Given the description of an element on the screen output the (x, y) to click on. 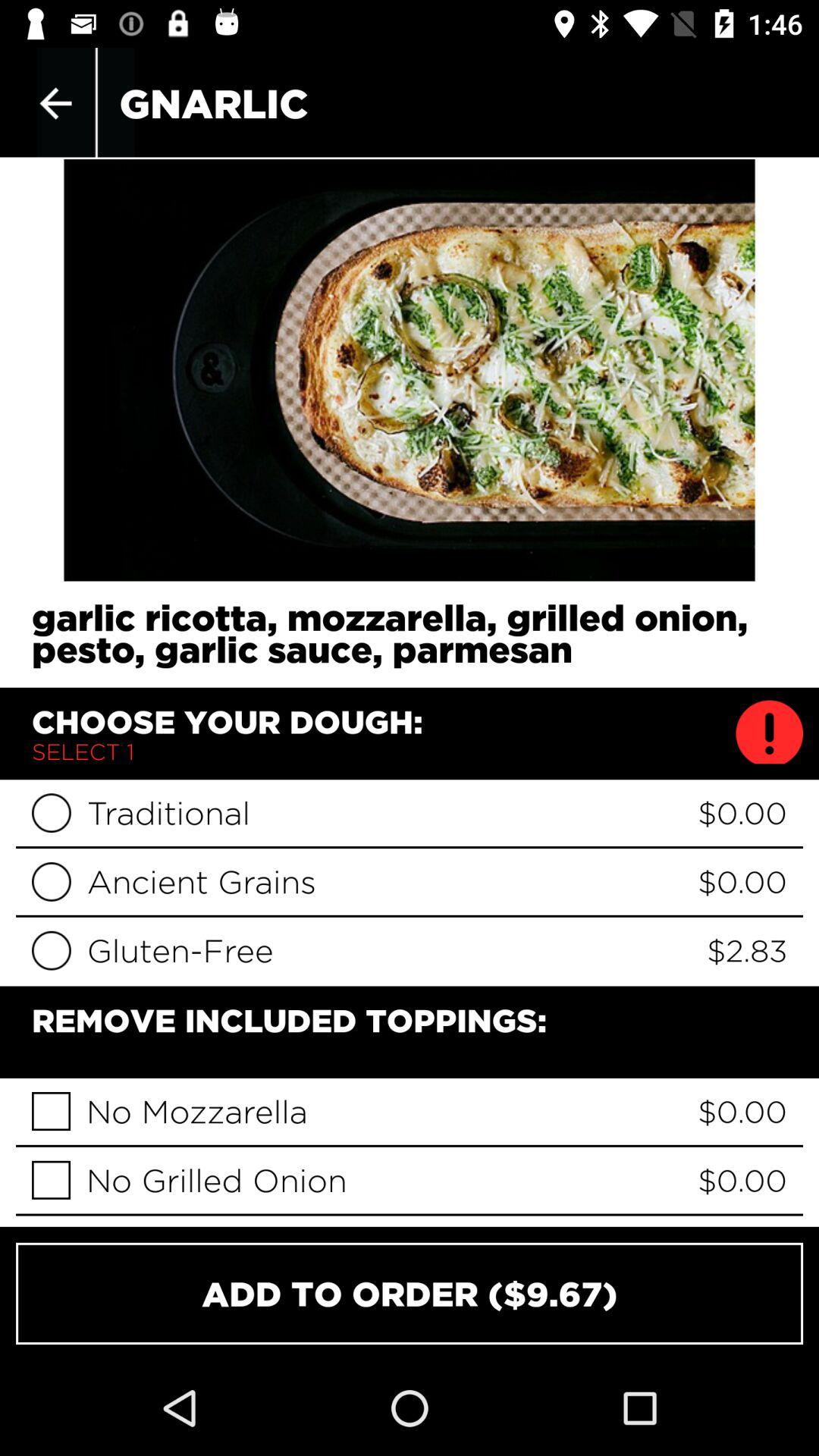
select the option (50, 1111)
